Given the description of an element on the screen output the (x, y) to click on. 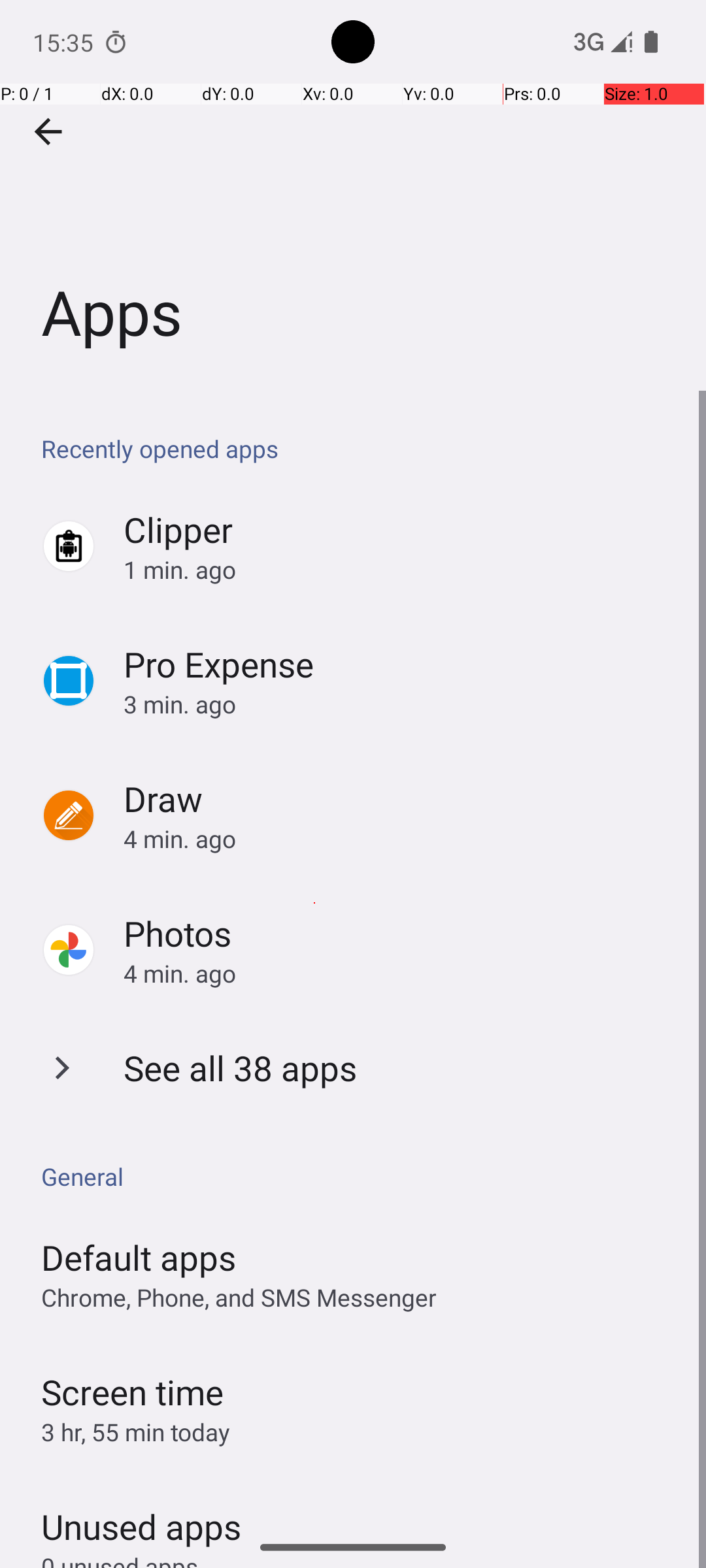
See all 38 apps Element type: android.widget.TextView (239, 1067)
3 hr, 55 min today Element type: android.widget.TextView (135, 1431)
